Given the description of an element on the screen output the (x, y) to click on. 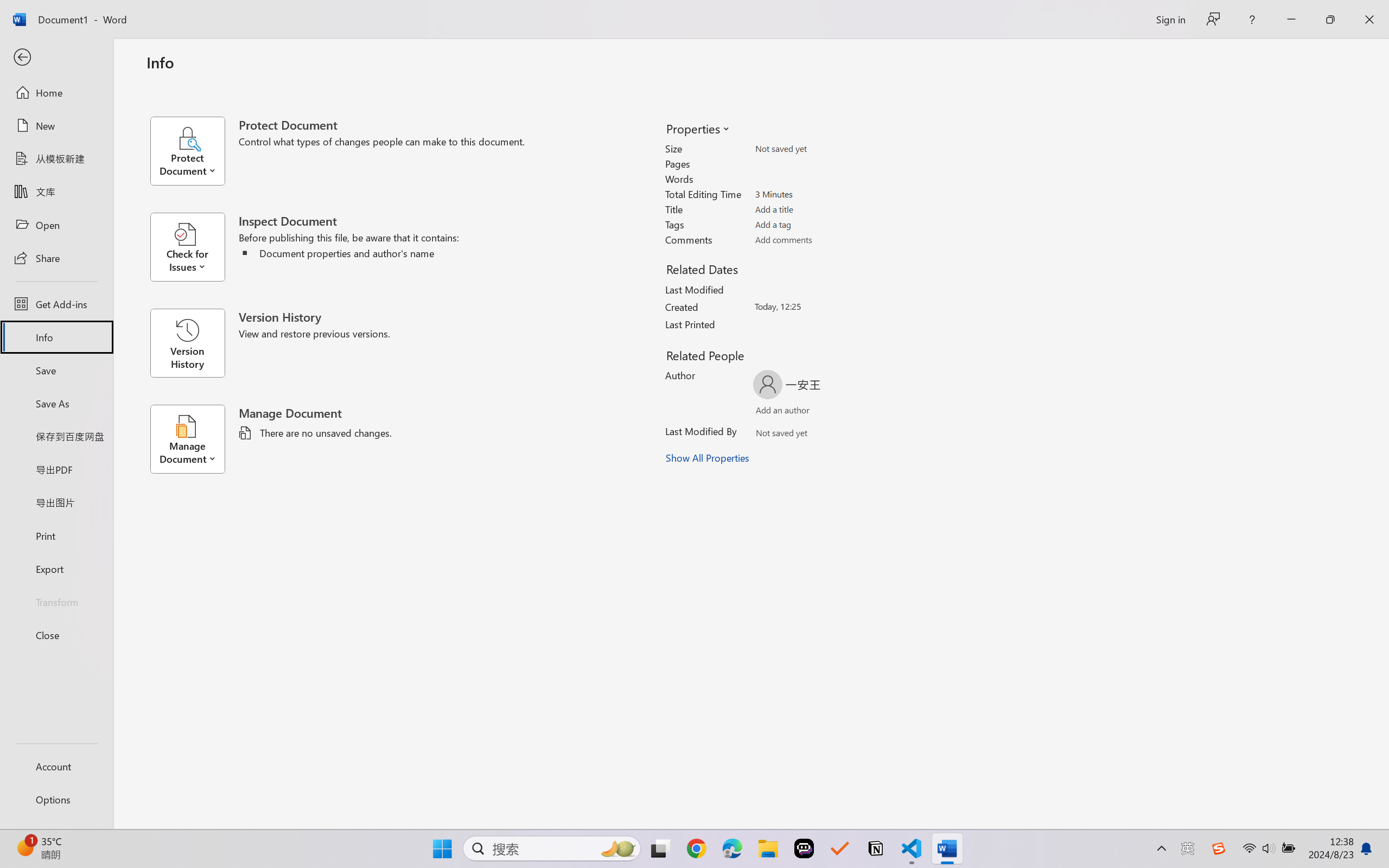
Tags (818, 223)
Save As (56, 403)
Show All Properties (707, 457)
